Given the description of an element on the screen output the (x, y) to click on. 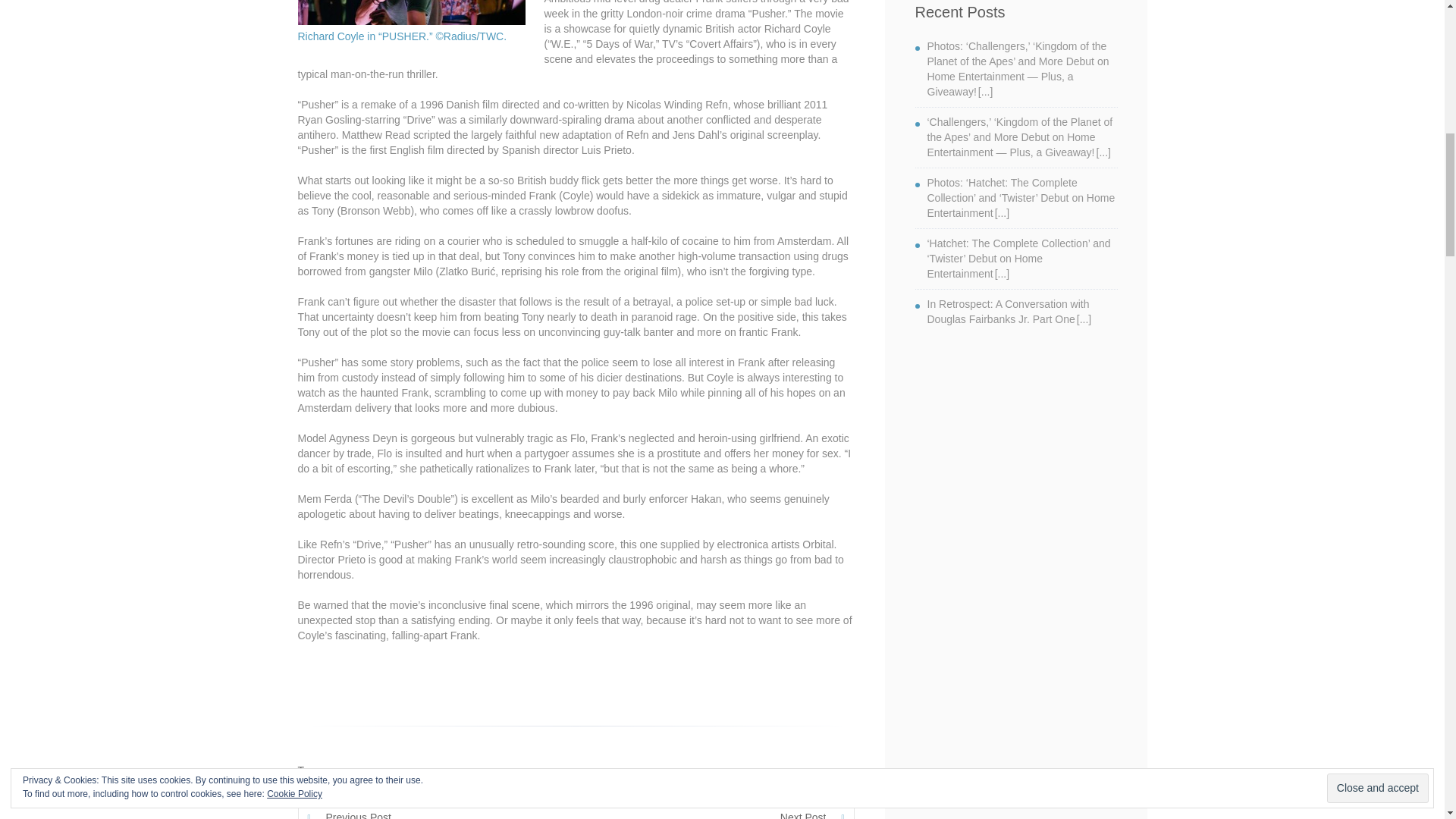
Advertisement (1015, 705)
Advertisement (1027, 461)
Pusher (534, 770)
Nicholas Winding Refn (472, 770)
Luis Prieto (405, 770)
Bronson Webb (352, 770)
Richard Coyle (580, 770)
